Given the description of an element on the screen output the (x, y) to click on. 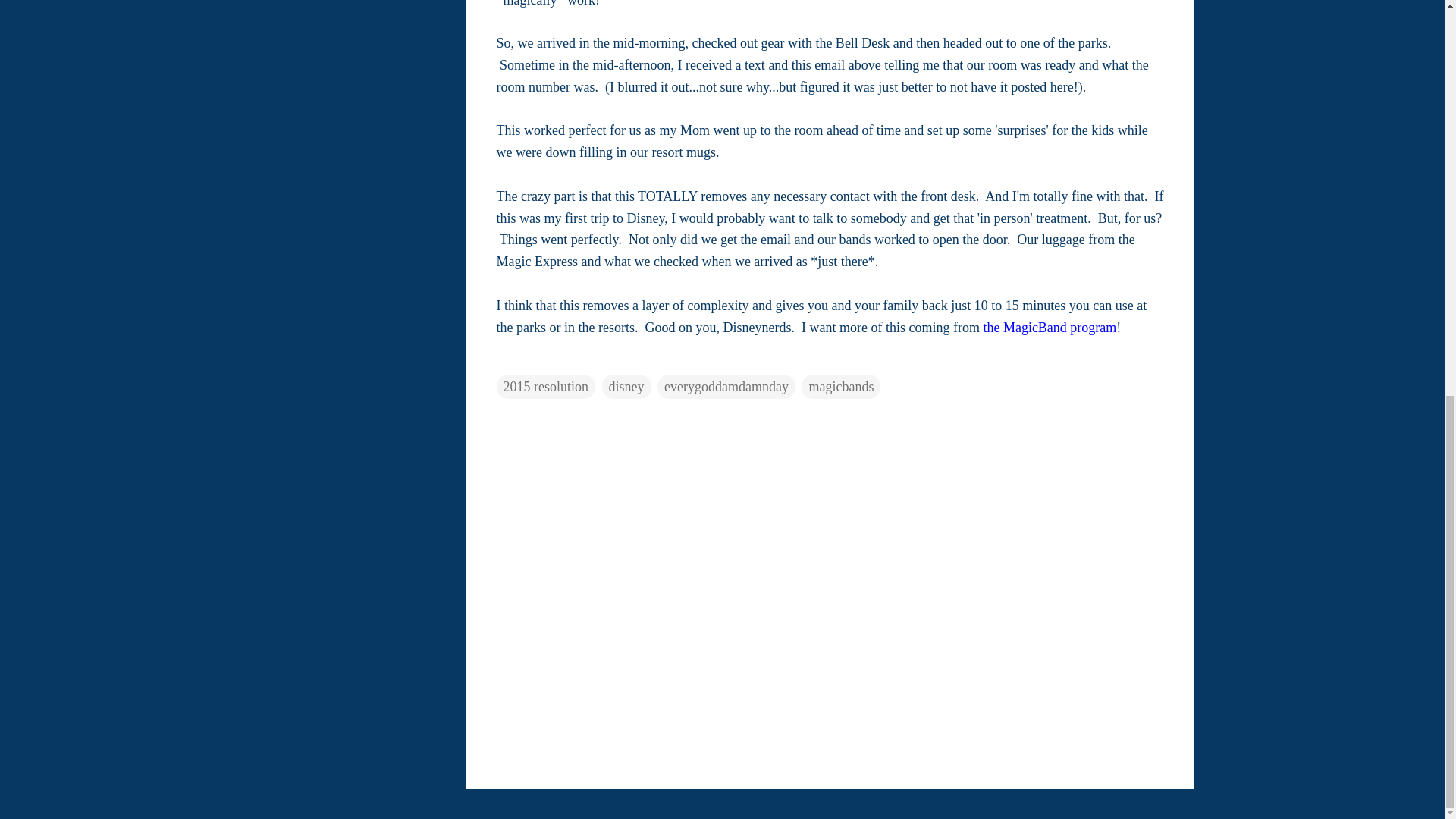
disney (626, 386)
the MagicBand program (1049, 327)
everygoddamdamnday (726, 386)
magicbands (841, 386)
2015 resolution (545, 386)
